Given the description of an element on the screen output the (x, y) to click on. 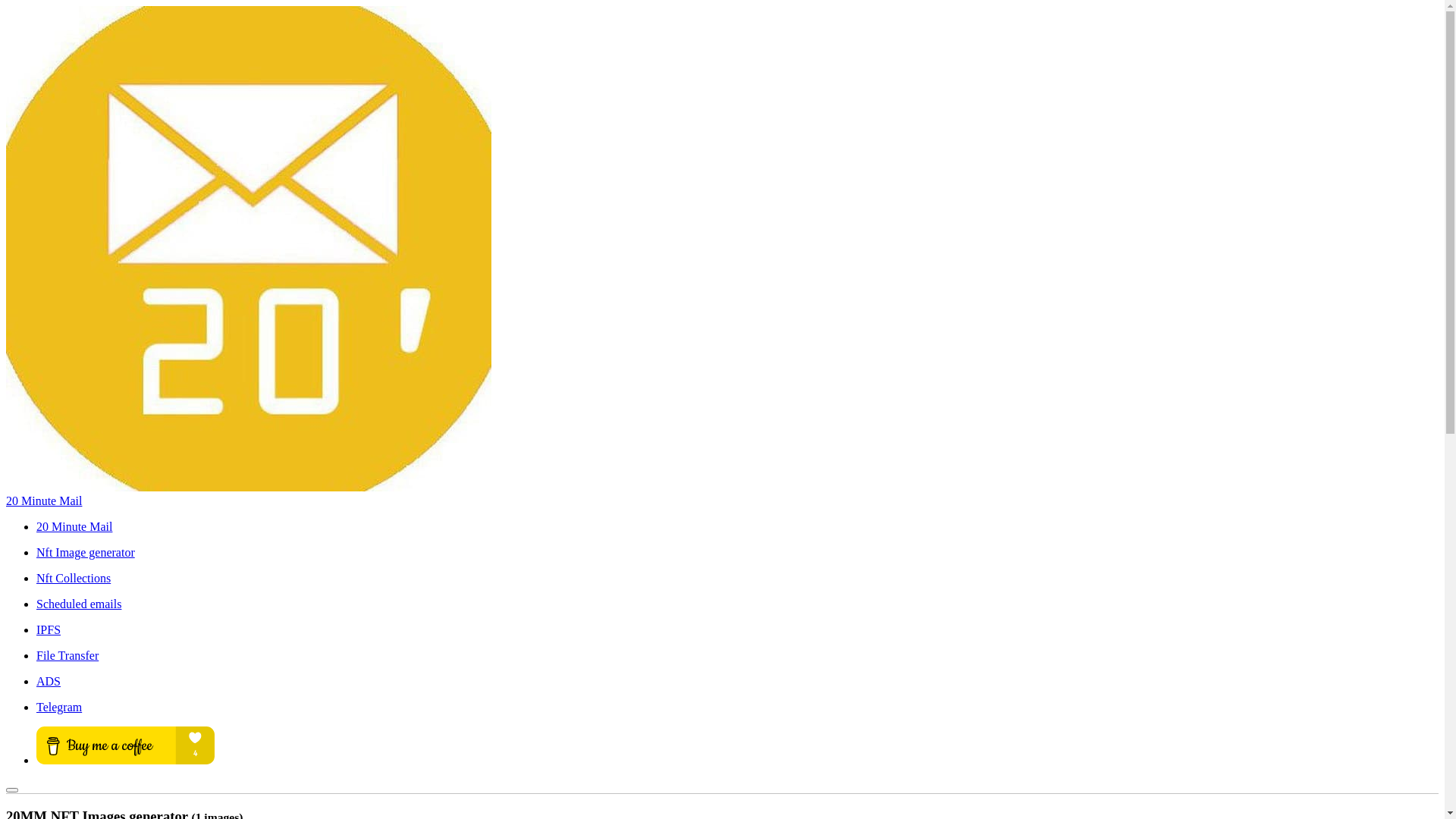
Nft Collections Element type: text (737, 578)
20 Minute Mail Element type: text (43, 500)
IPFS Element type: text (737, 630)
Nft Image generator Element type: text (737, 552)
ADS Element type: text (737, 681)
Telegram Element type: text (737, 707)
20 Minute Mail Element type: text (737, 526)
File Transfer Element type: text (737, 655)
Scheduled emails Element type: text (737, 604)
